Given the description of an element on the screen output the (x, y) to click on. 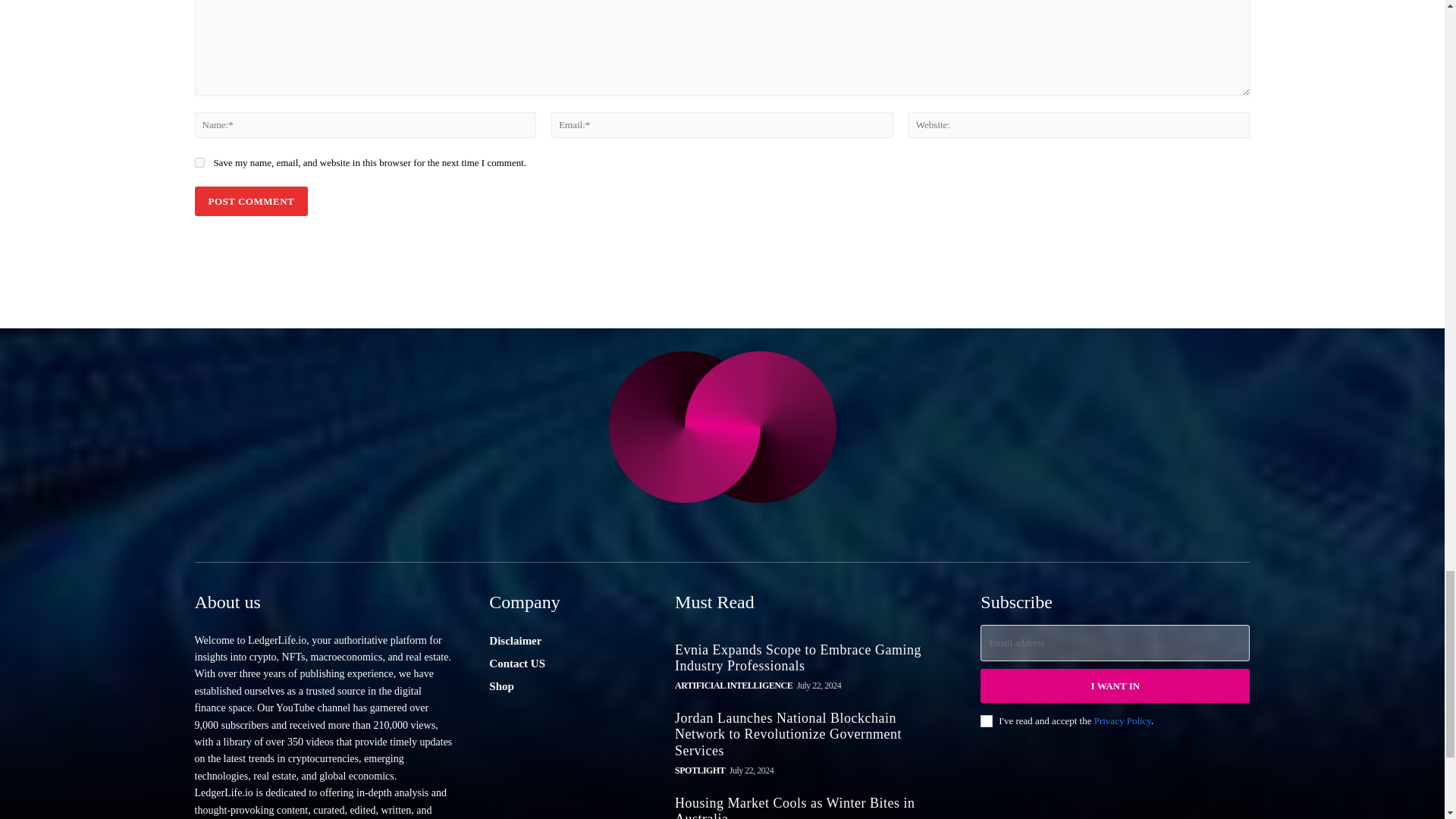
yes (198, 162)
Post Comment (250, 201)
